Given the description of an element on the screen output the (x, y) to click on. 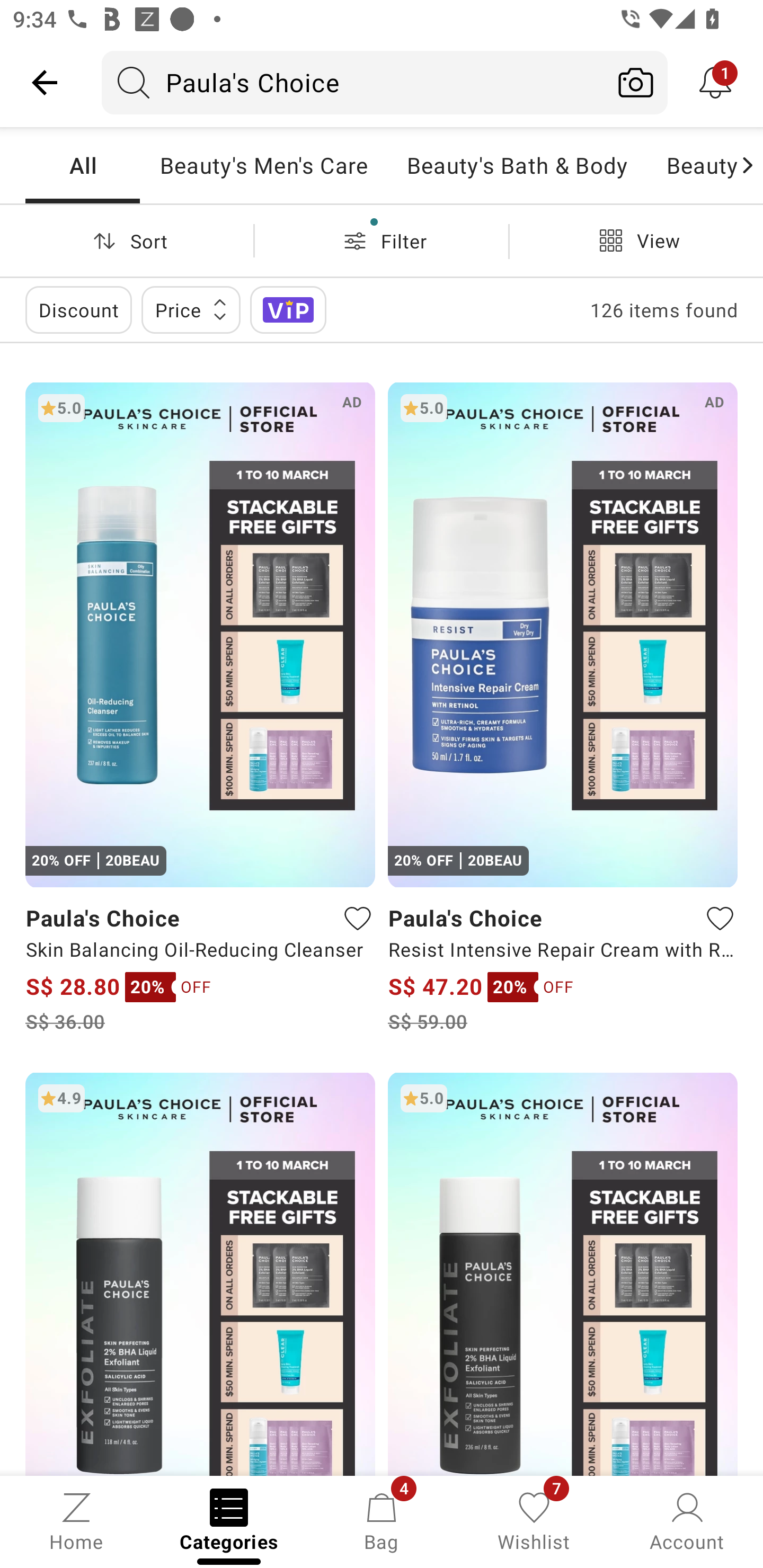
Navigate up (44, 82)
Paula's Choice (352, 82)
Beauty's Men's Care (262, 165)
Beauty's Bath & Body (516, 165)
Beauty's Hair Care (691, 165)
Sort (126, 240)
Filter (381, 240)
View (636, 240)
Discount (78, 309)
Price (190, 309)
4.9 (200, 1272)
5.0 (562, 1272)
Home (76, 1519)
Bag, 4 new notifications Bag (381, 1519)
Wishlist, 7 new notifications Wishlist (533, 1519)
Account (686, 1519)
